Given the description of an element on the screen output the (x, y) to click on. 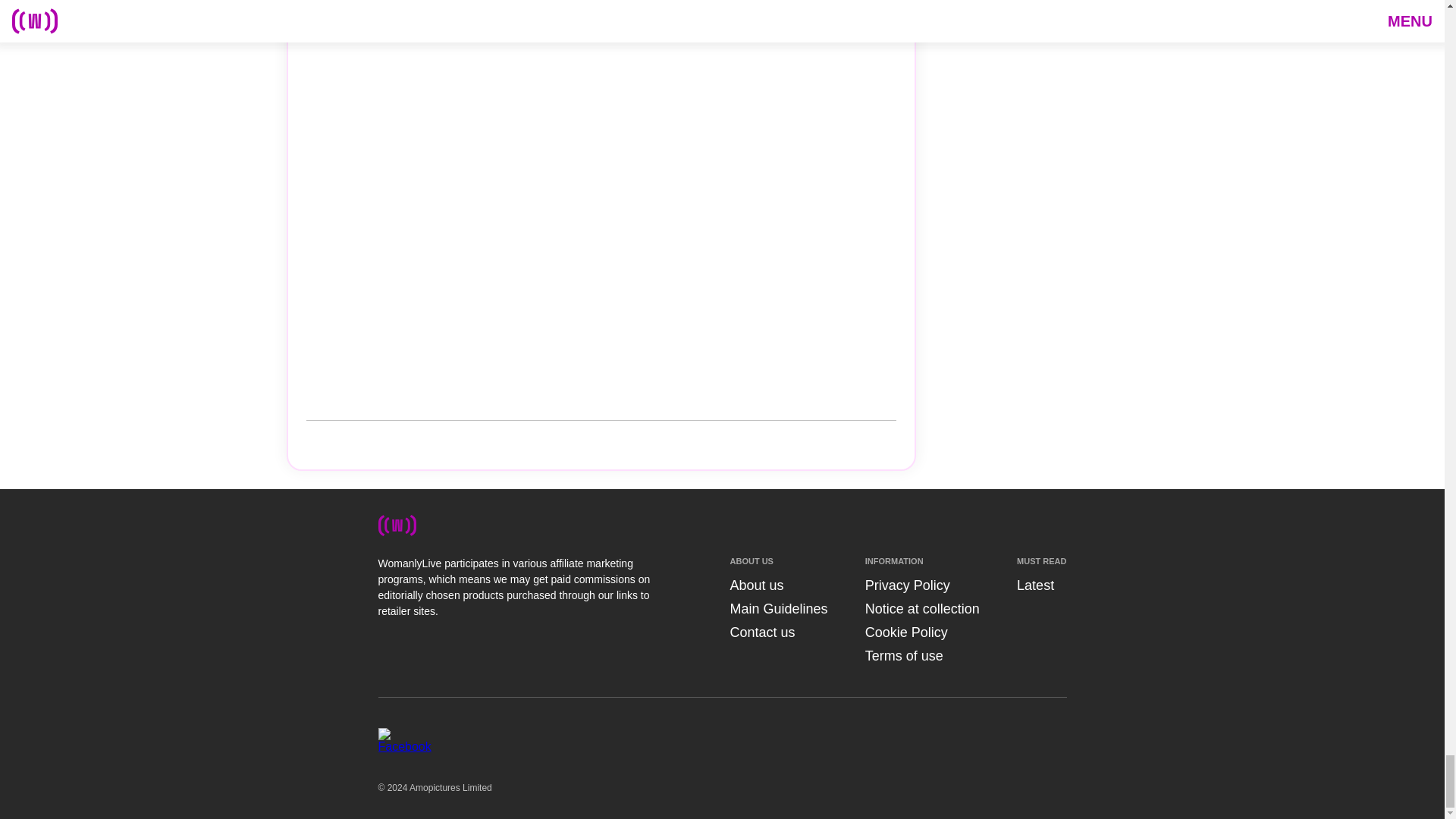
Privacy Policy (907, 585)
About us (756, 585)
Main Guidelines (778, 608)
Notice at collection (921, 608)
Cookie Policy (905, 631)
Terms of use (903, 655)
Contact us (761, 631)
Latest (1035, 585)
